Given the description of an element on the screen output the (x, y) to click on. 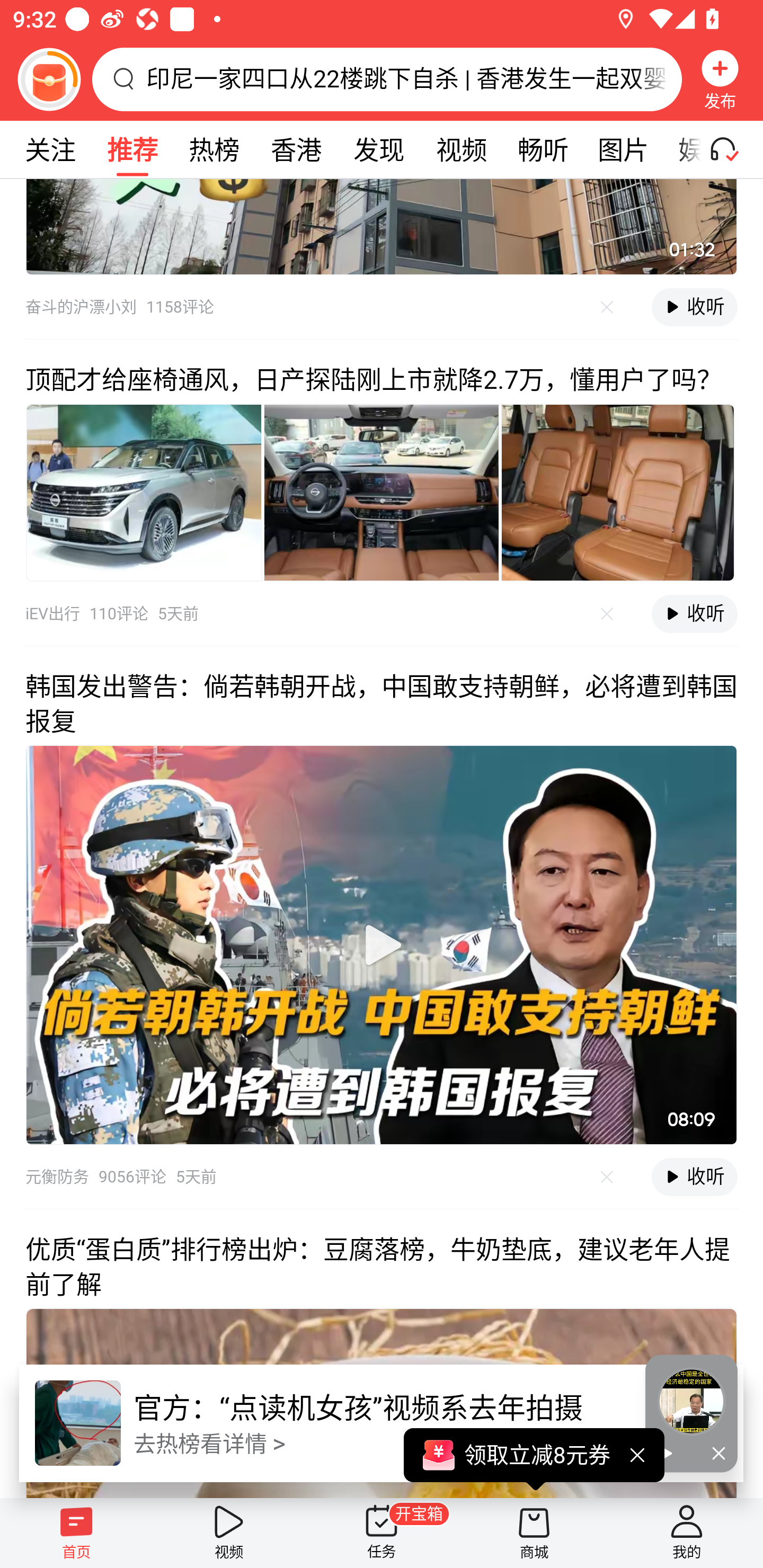
领取立减8元券 关闭气泡 (533, 1458)
